Given the description of an element on the screen output the (x, y) to click on. 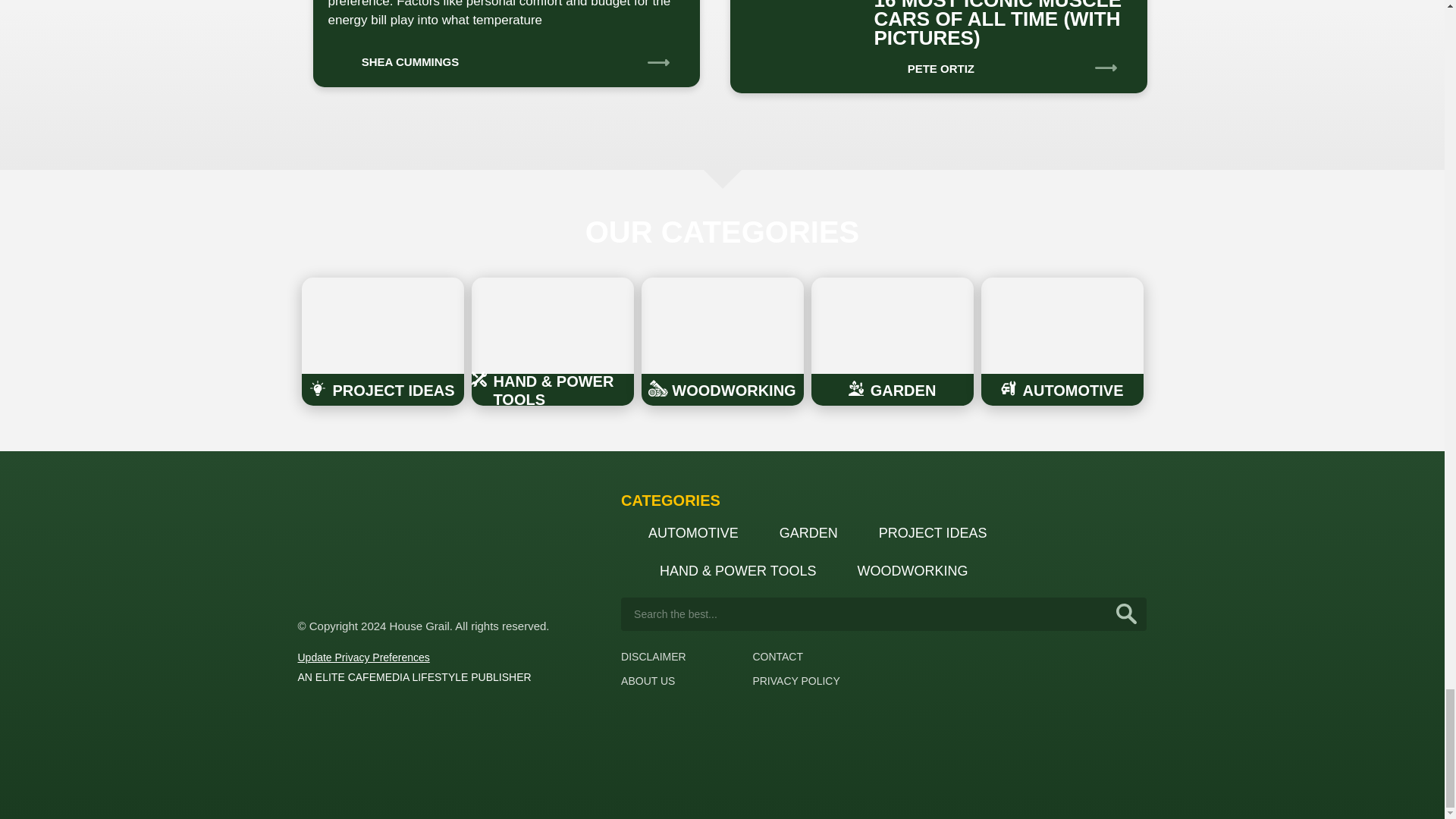
house-grail-logo (353, 545)
Search (1126, 613)
SHEA CUMMINGS (392, 56)
